Given the description of an element on the screen output the (x, y) to click on. 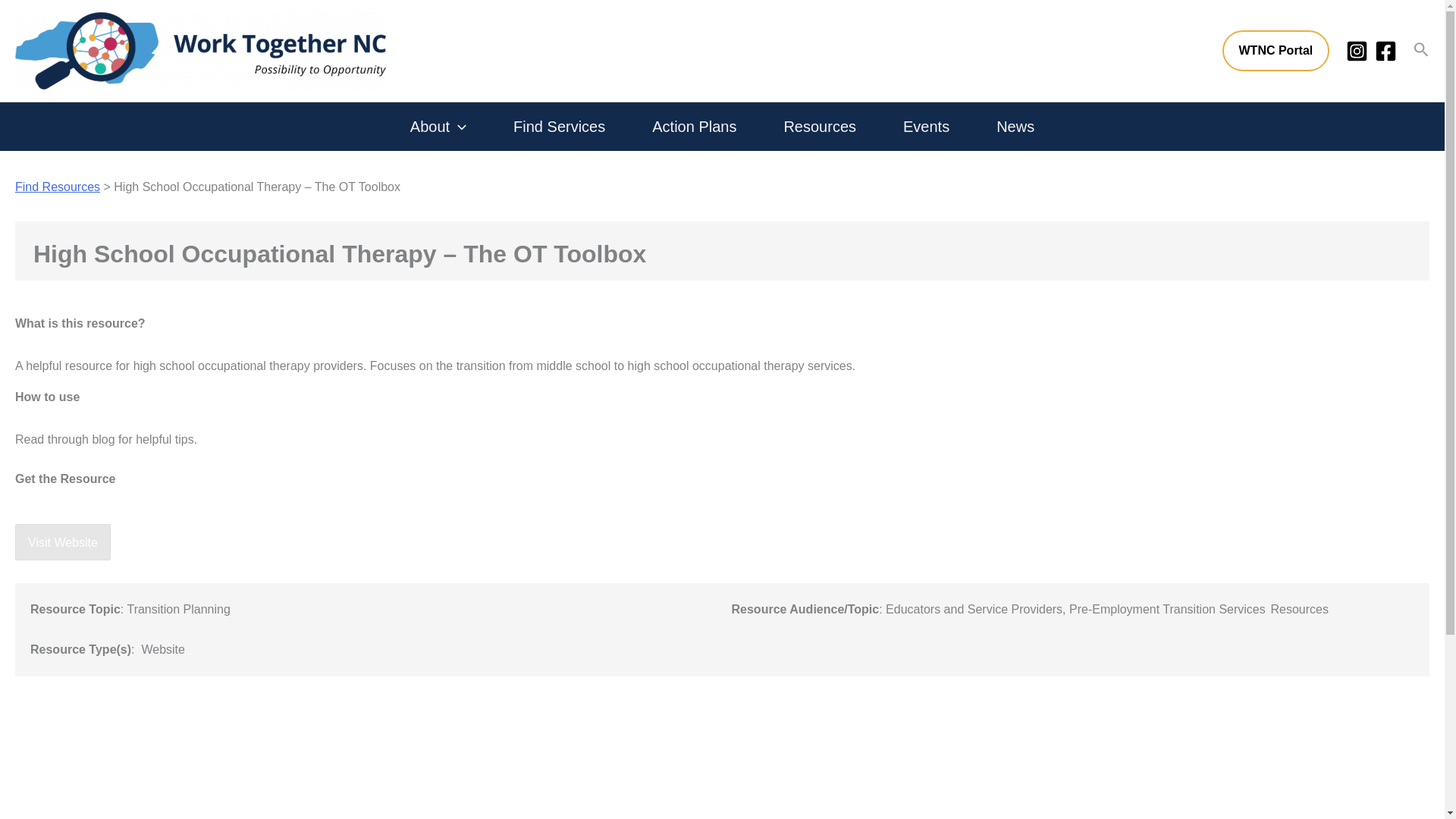
About (437, 126)
Visit Website (62, 542)
WTNC Portal (1276, 50)
News (1015, 126)
Resources (819, 126)
Find Resources (57, 186)
Find Services (558, 126)
Events (925, 126)
Action Plans (694, 126)
Visit Website (62, 542)
